Given the description of an element on the screen output the (x, y) to click on. 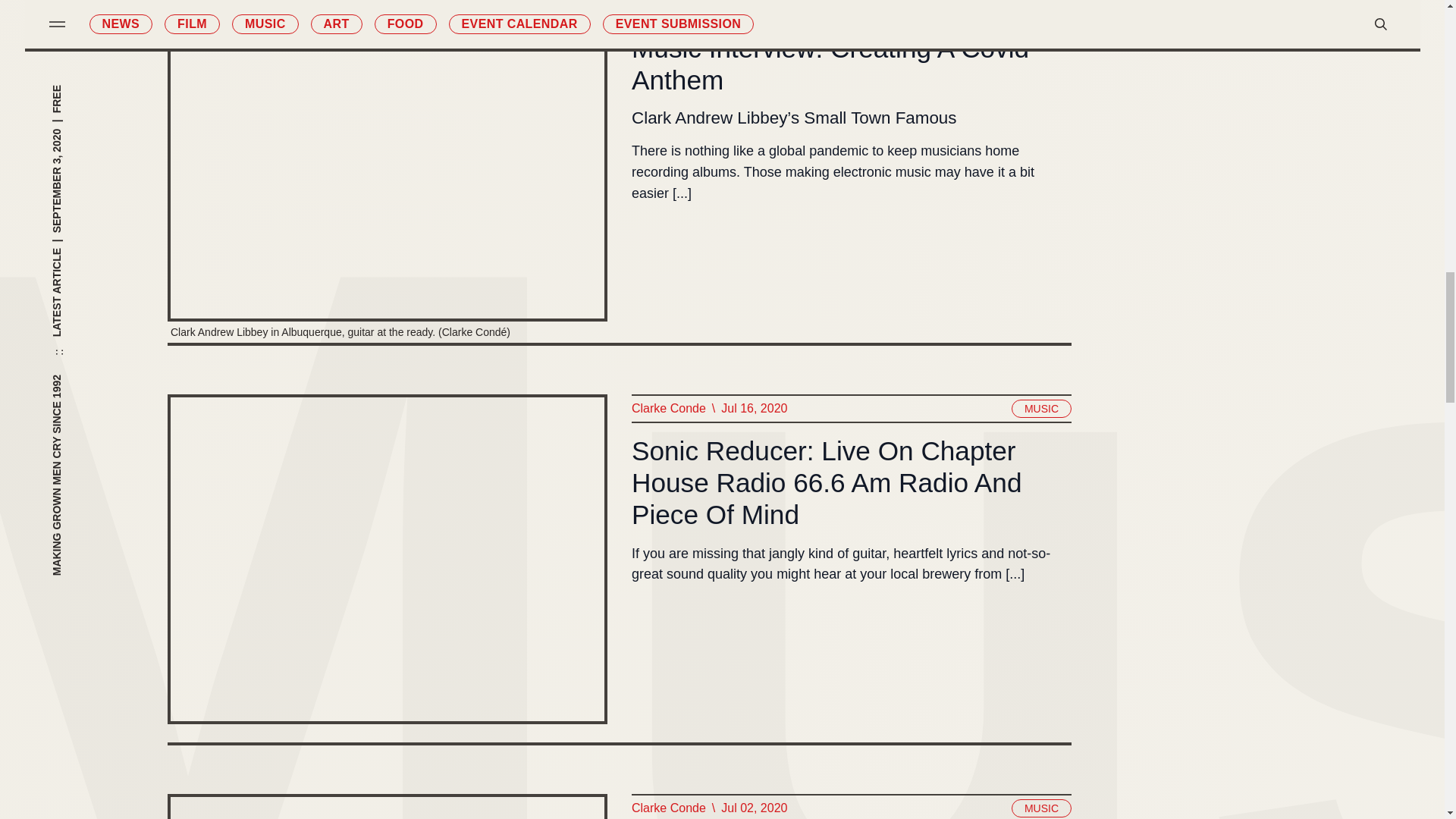
MUSIC (1040, 7)
MUSIC (1040, 408)
Clarke Conde (667, 408)
Clarke Conde (667, 8)
